Given the description of an element on the screen output the (x, y) to click on. 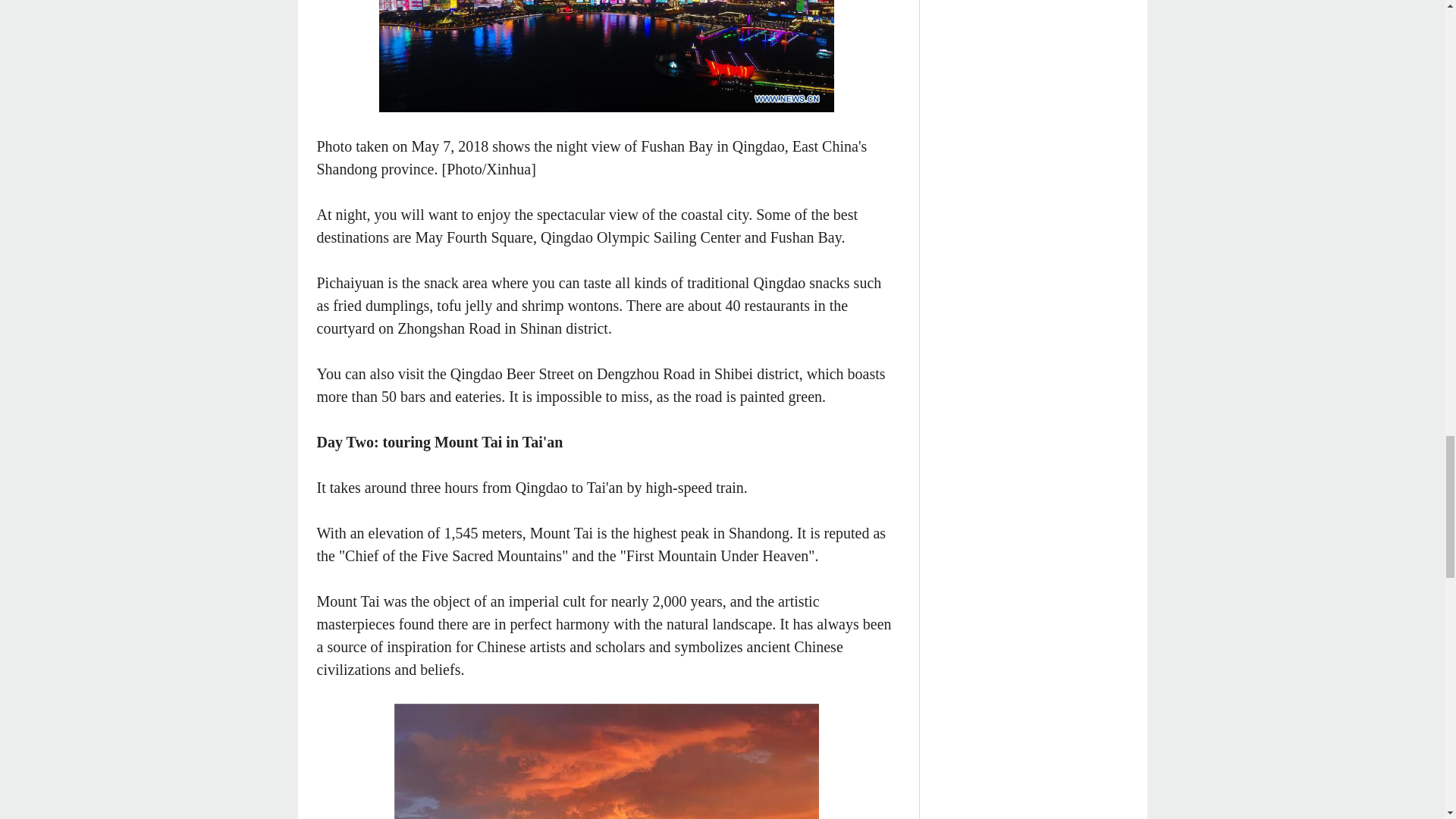
1536048263027076692.png (606, 56)
